Given the description of an element on the screen output the (x, y) to click on. 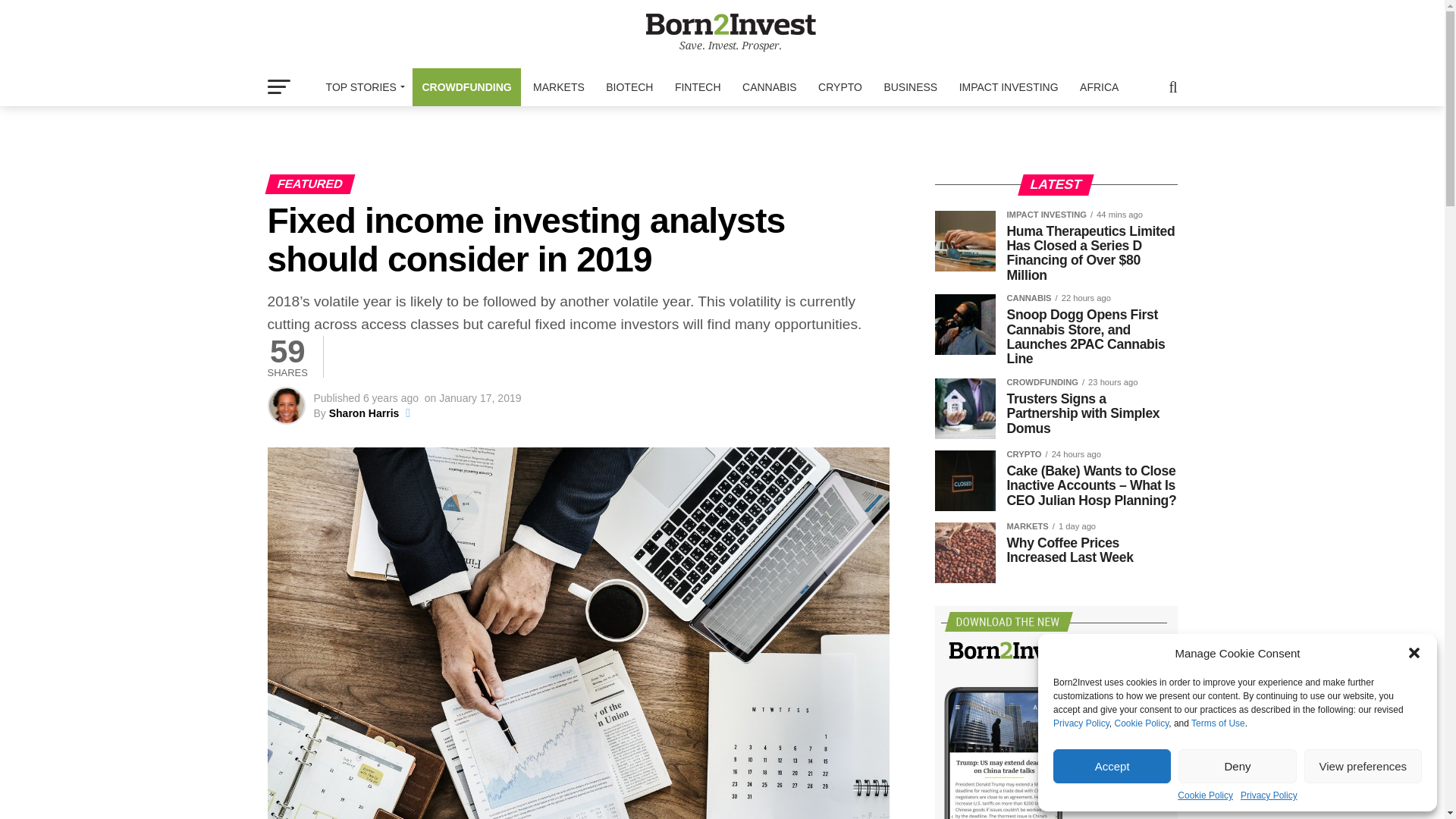
Privacy Policy (1268, 795)
Privacy Policy (1080, 723)
Accept (1111, 765)
TOP STORIES (363, 86)
Cookie Policy (1205, 795)
MARKETS (559, 86)
Cookie Policy (1141, 723)
CANNABIS (769, 86)
CROWDFUNDING (465, 86)
Posts by Sharon Harris (363, 413)
BIOTECH (629, 86)
FINTECH (697, 86)
Terms of Use (1217, 723)
View preferences (1363, 765)
Deny (1236, 765)
